Given the description of an element on the screen output the (x, y) to click on. 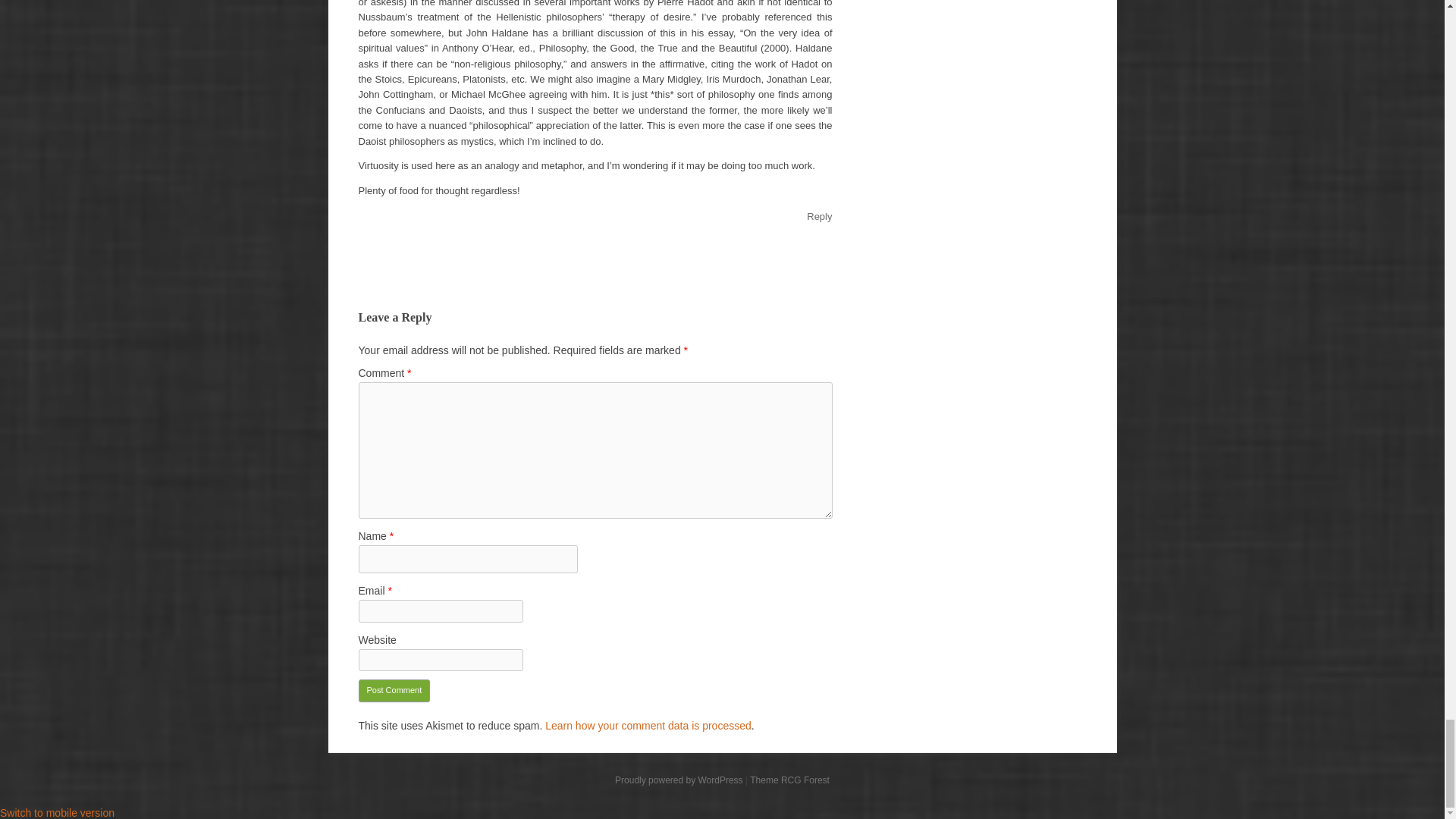
Post Comment (393, 690)
Semantic Personal Publishing Platform (678, 779)
